Given the description of an element on the screen output the (x, y) to click on. 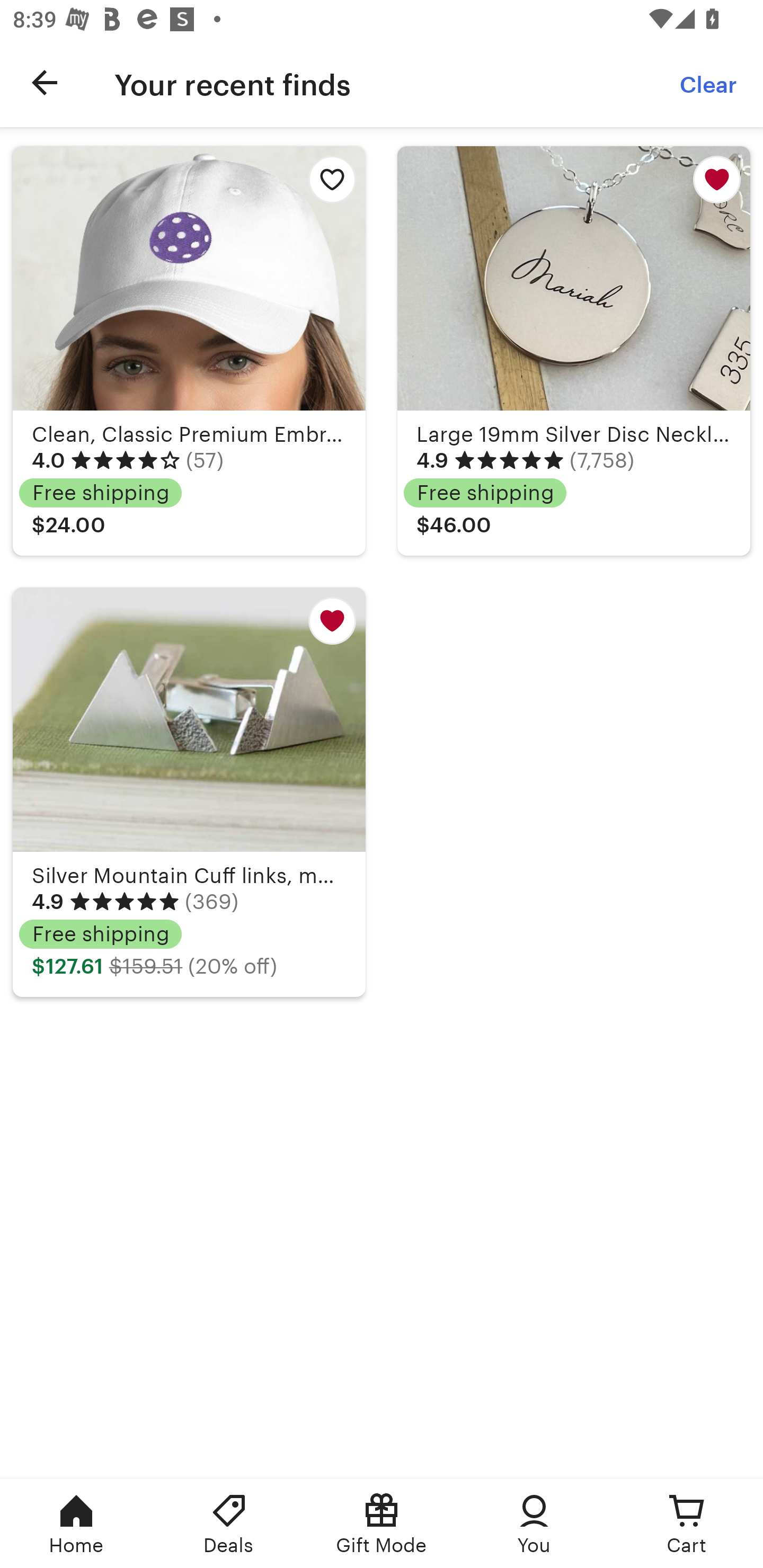
Navigate up (44, 82)
Clear (708, 82)
Deals (228, 1523)
Gift Mode (381, 1523)
You (533, 1523)
Cart (686, 1523)
